Given the description of an element on the screen output the (x, y) to click on. 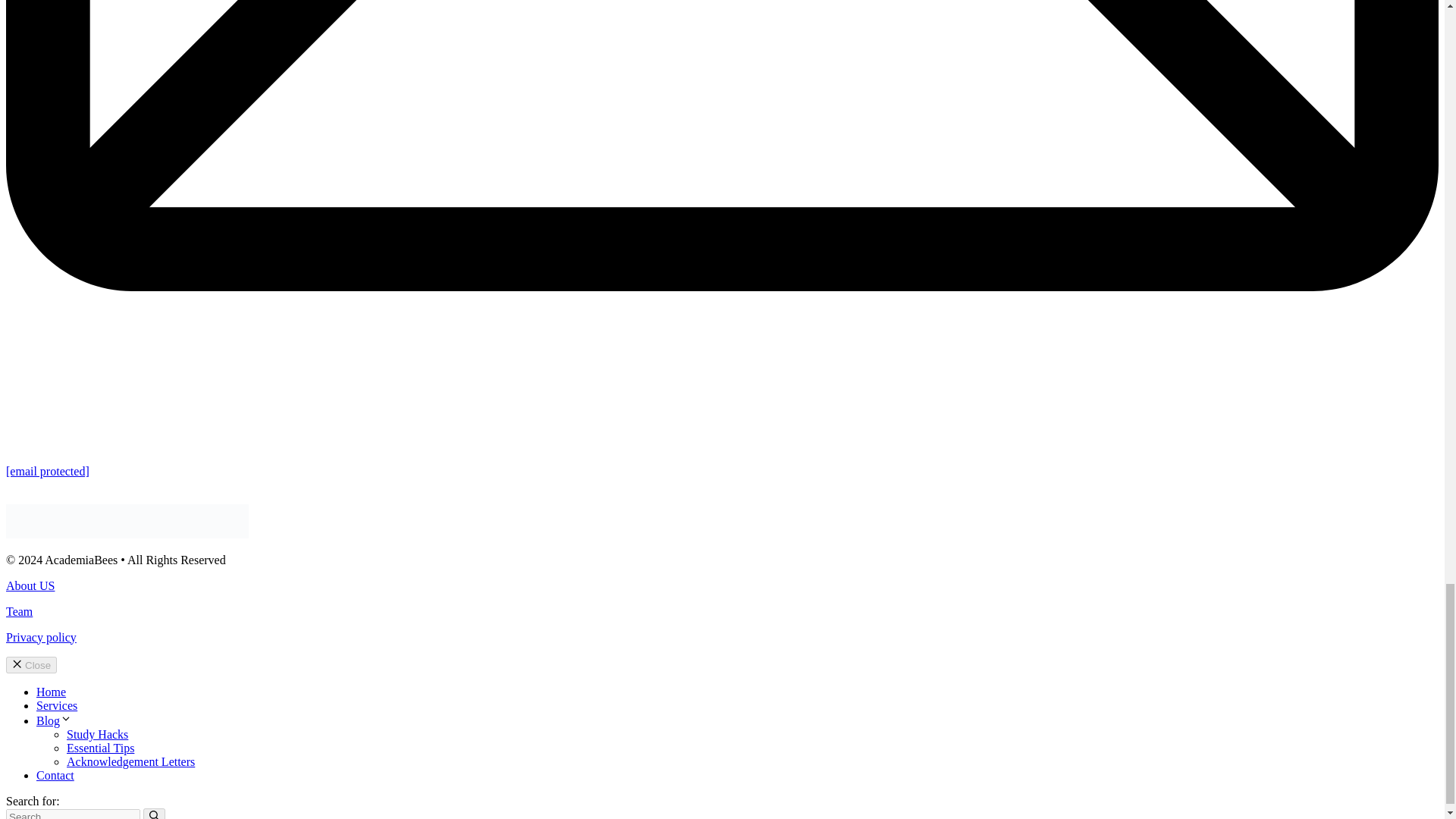
Close (30, 664)
Services (56, 705)
Team (18, 611)
Acknowledgement Letters (130, 761)
Contact (55, 775)
About US (30, 585)
Blog (53, 720)
Privacy policy (41, 636)
Essential Tips (99, 748)
Study Hacks (97, 734)
